Given the description of an element on the screen output the (x, y) to click on. 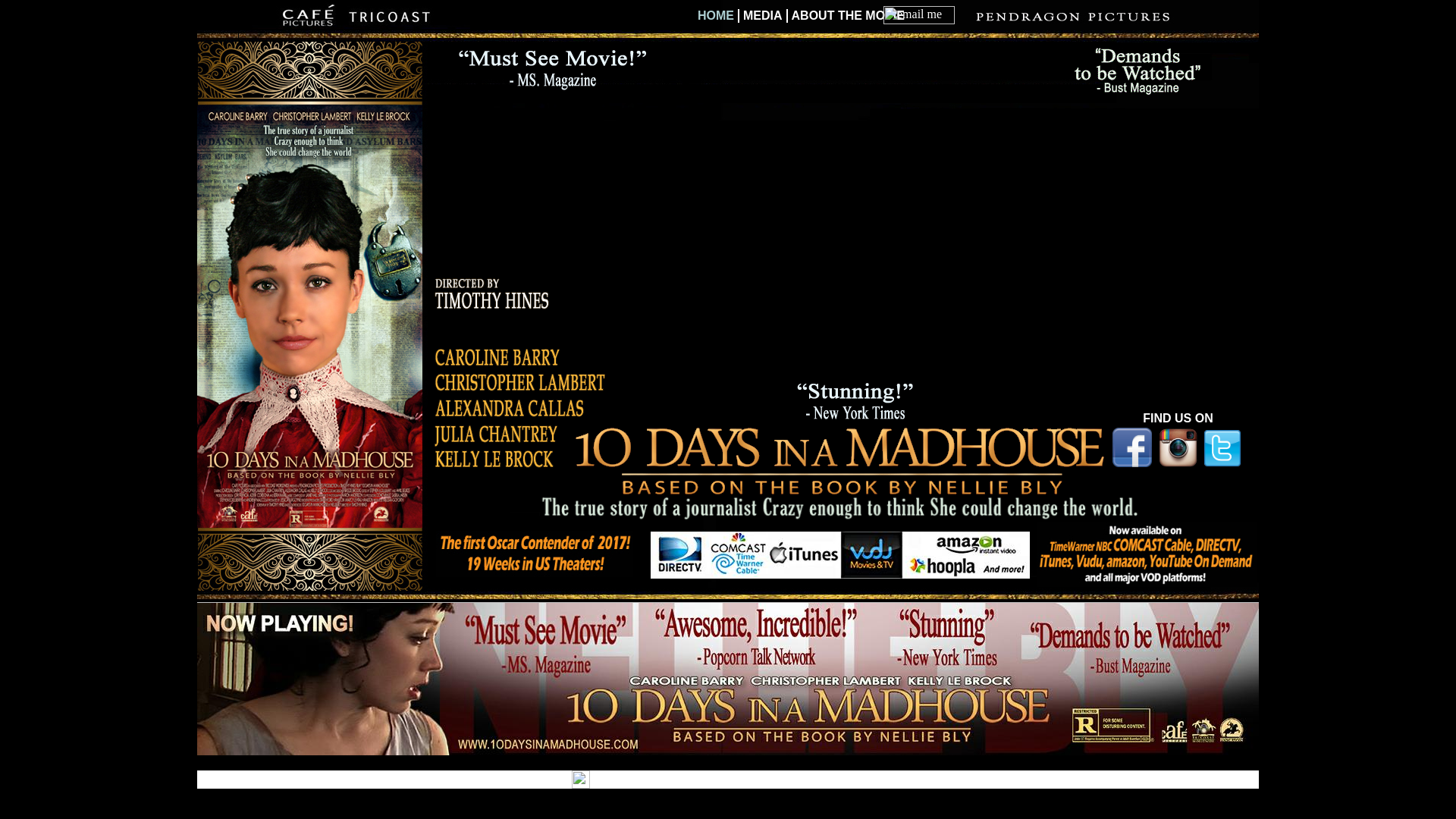
ABOUT THE MOVIE Element type: text (845, 15)
for Your Business Element type: text (847, 779)
HOME Element type: text (717, 15)
MEDIA Element type: text (762, 15)
